Given the description of an element on the screen output the (x, y) to click on. 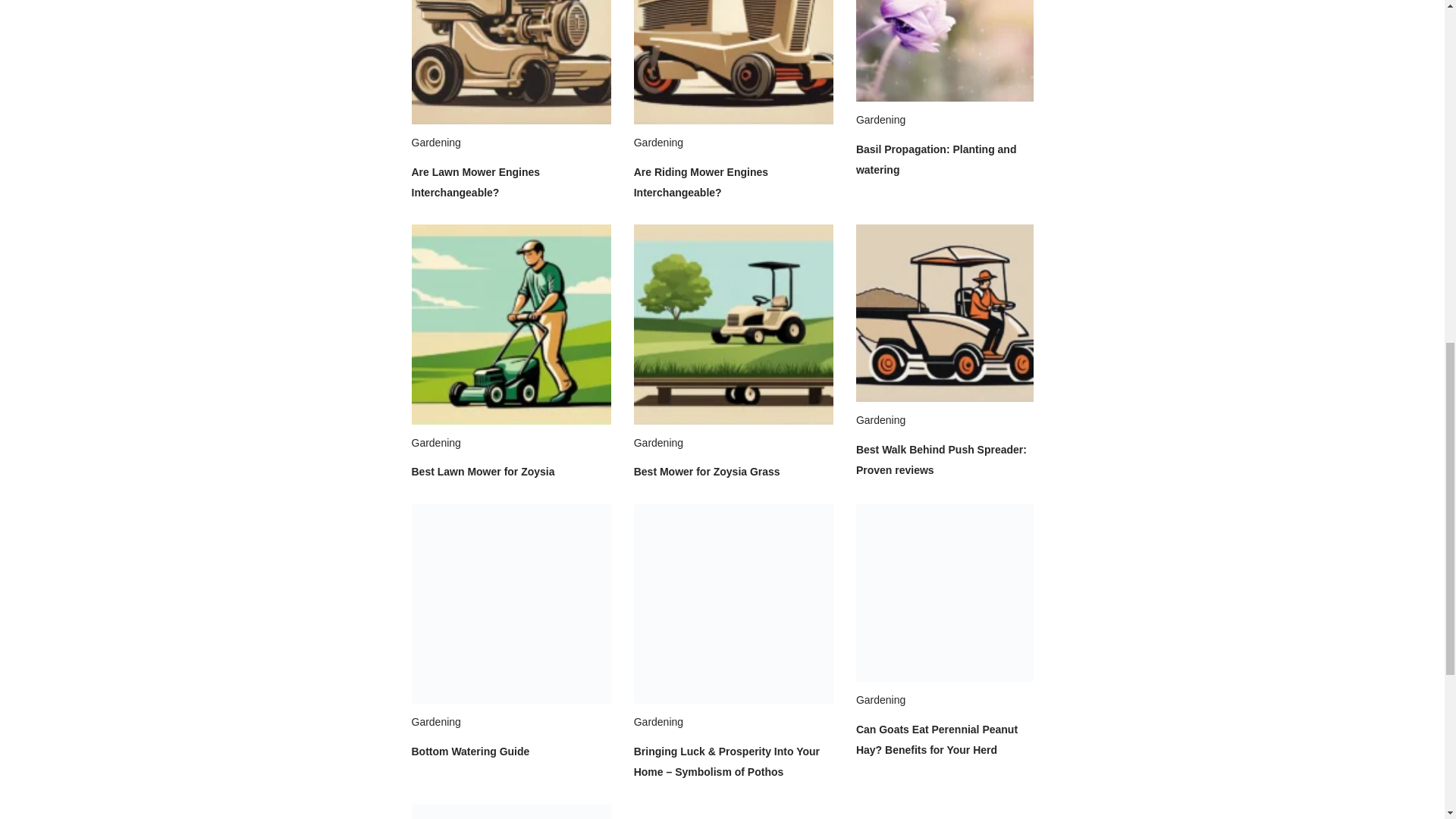
Gardening (880, 119)
Best Lawn Mower for Zoysia (482, 471)
Gardening (435, 142)
Are Lawn Mower Engines Interchangeable? (475, 182)
Gardening (657, 142)
Basil Propagation: Planting and watering (936, 159)
Gardening (435, 442)
Are Riding Mower Engines Interchangeable? (700, 182)
